Given the description of an element on the screen output the (x, y) to click on. 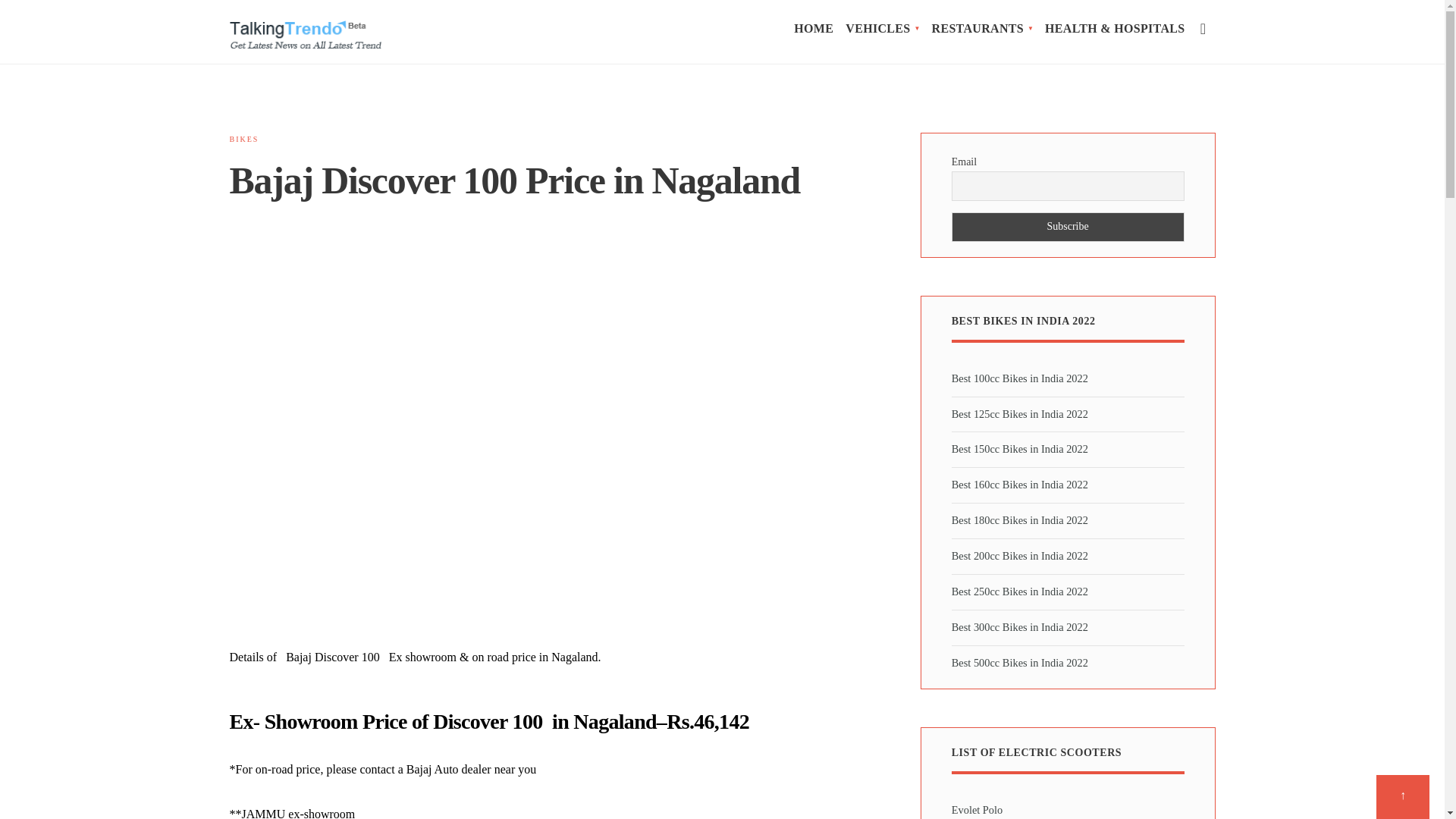
Best 160cc Bikes in India 2022 (1019, 484)
Best 125cc Bikes in India 2022 (1019, 413)
Scroll to top (1402, 796)
Best 500cc Bikes in India 2022 (1019, 662)
Best 300cc Bikes in India 2022 (1019, 626)
Subscribe (1068, 226)
BIKES (243, 139)
Best 150cc Bikes in India 2022 (1019, 449)
Evolet Polo (977, 809)
